Given the description of an element on the screen output the (x, y) to click on. 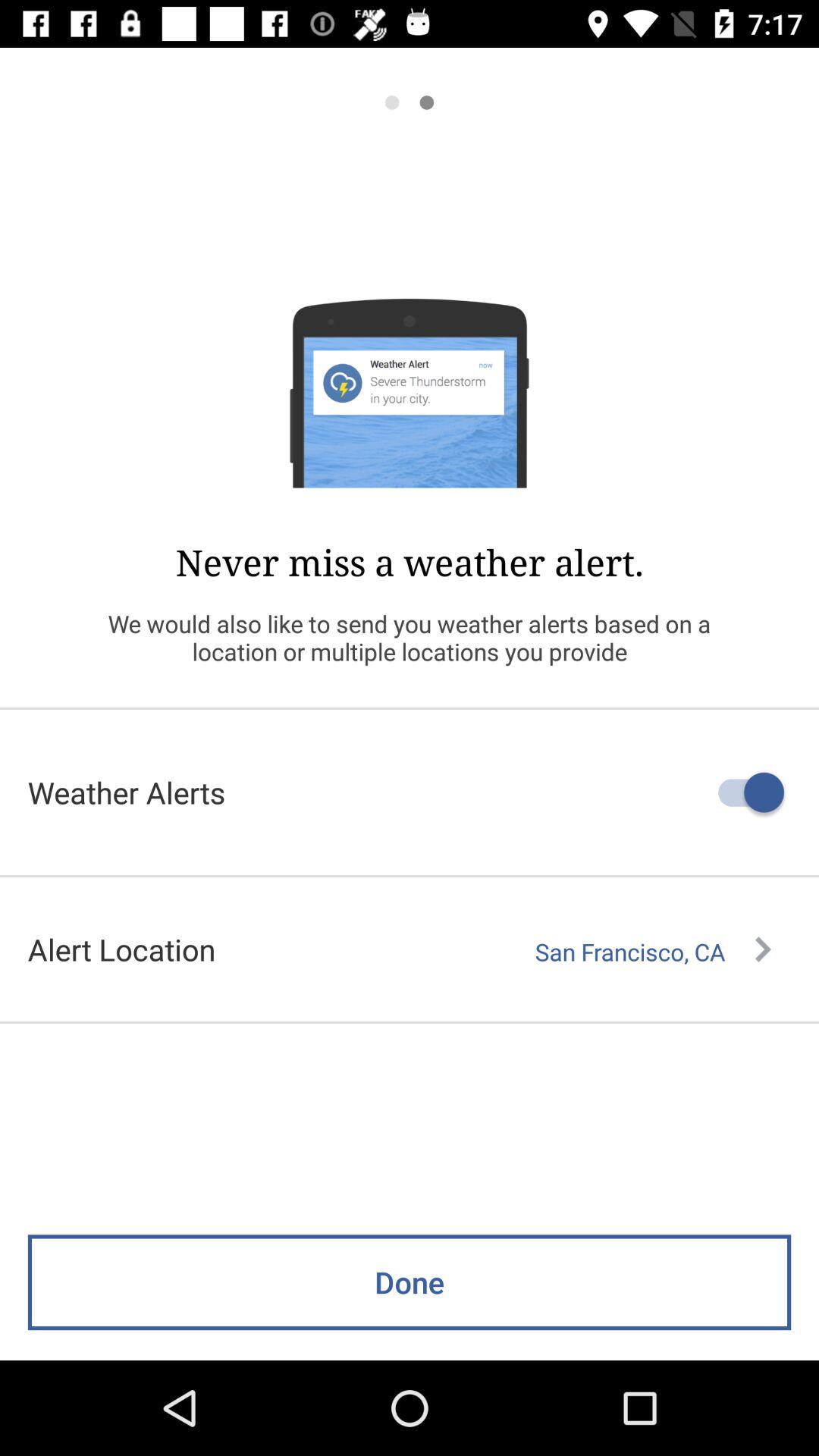
choose san francisco, ca (653, 951)
